Given the description of an element on the screen output the (x, y) to click on. 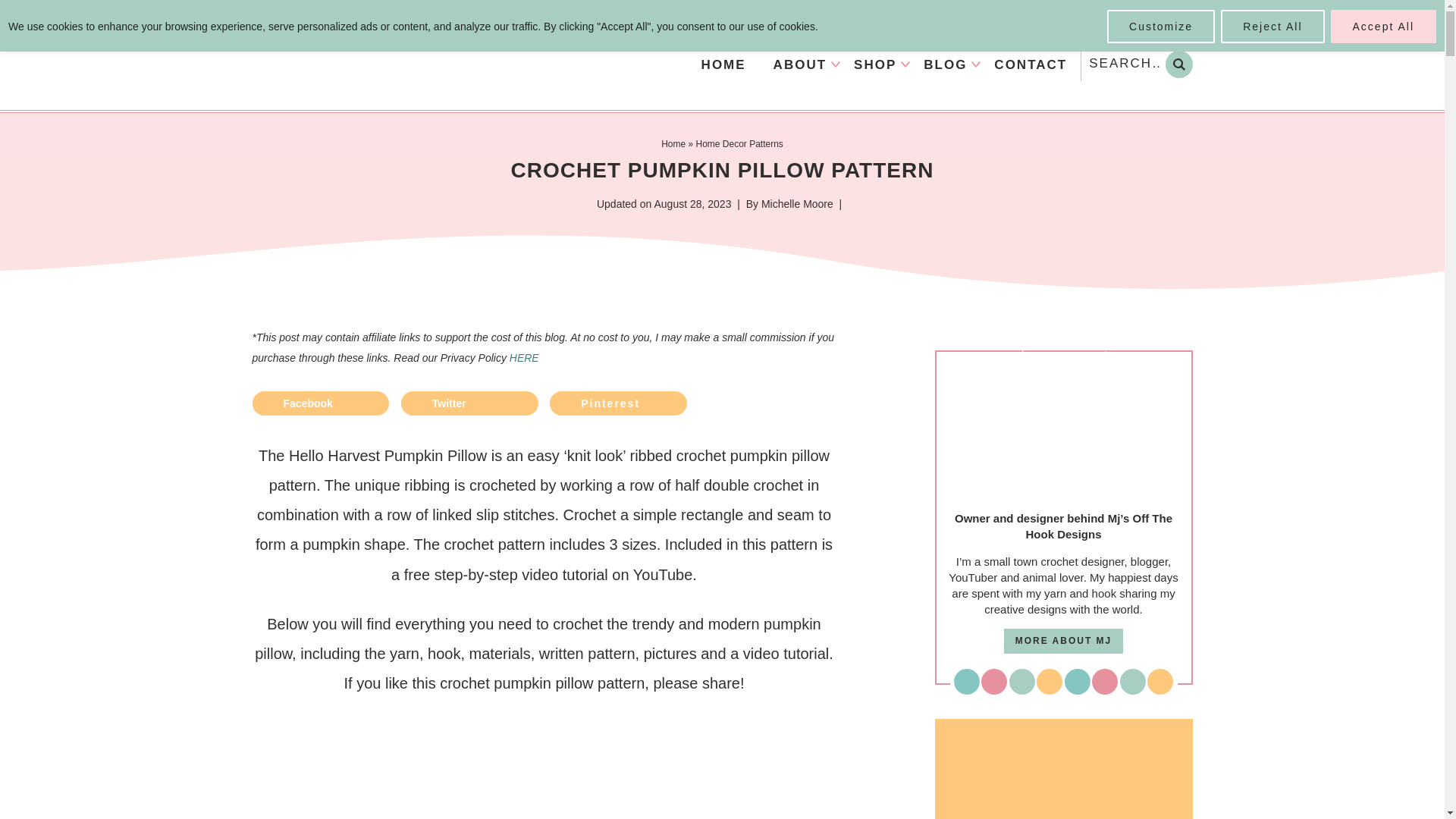
Save to Pinterest (618, 403)
Search for (1136, 63)
Share on X (469, 403)
Customize (1160, 26)
Reject All (1272, 26)
Share on Facebook (319, 403)
ABOUT (800, 64)
SHOP (875, 64)
Accept All (1382, 26)
HOME (723, 64)
